Given the description of an element on the screen output the (x, y) to click on. 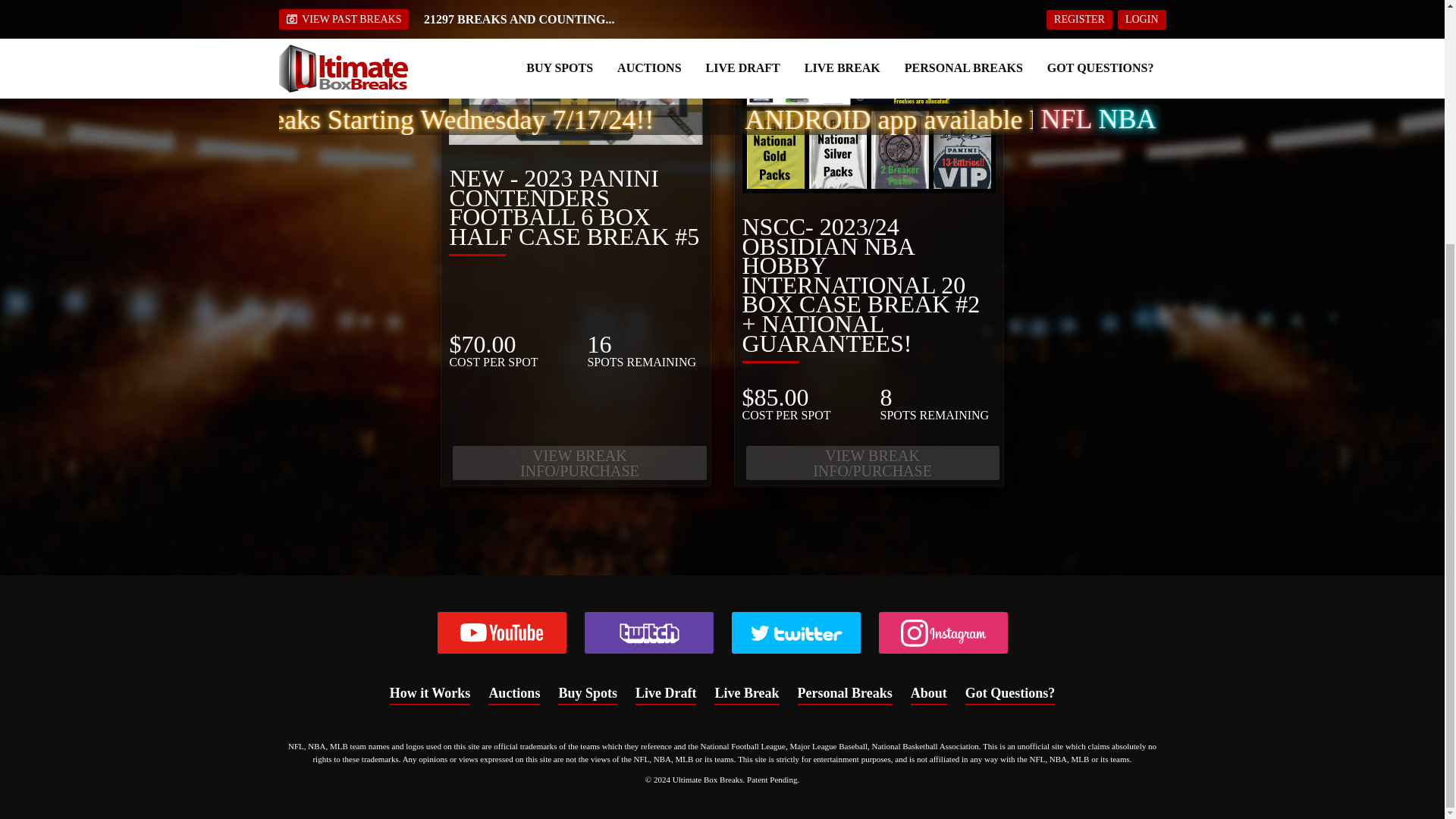
Live Draft (664, 693)
Live Break (746, 693)
Got Questions? (1010, 693)
Auctions (513, 693)
View and purchase this break (871, 462)
View and purchase this break (579, 462)
How it Works (430, 693)
About (929, 693)
Buy Spots (587, 693)
Personal Breaks (844, 693)
